Given the description of an element on the screen output the (x, y) to click on. 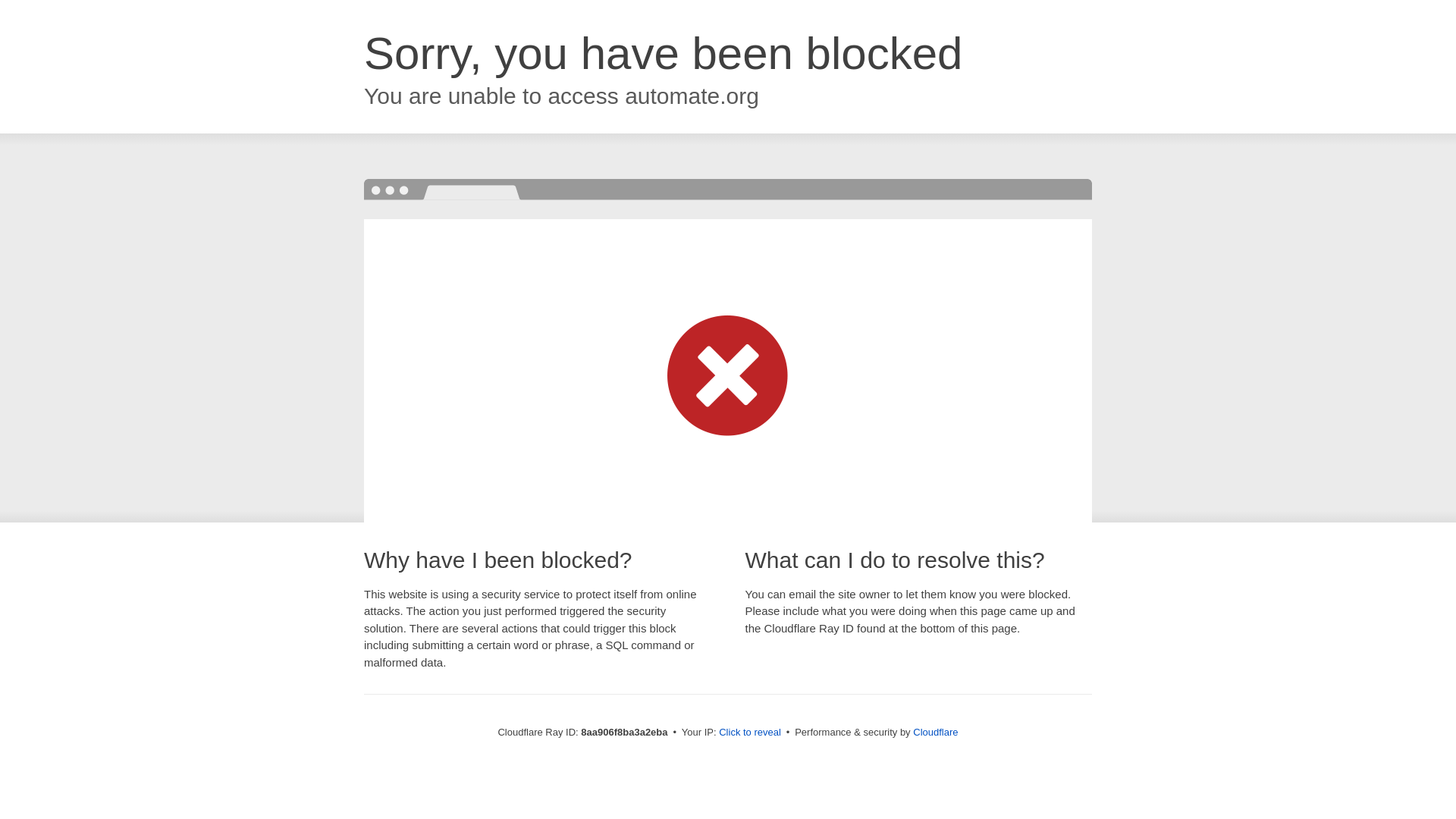
Cloudflare (935, 731)
Click to reveal (749, 732)
